Given the description of an element on the screen output the (x, y) to click on. 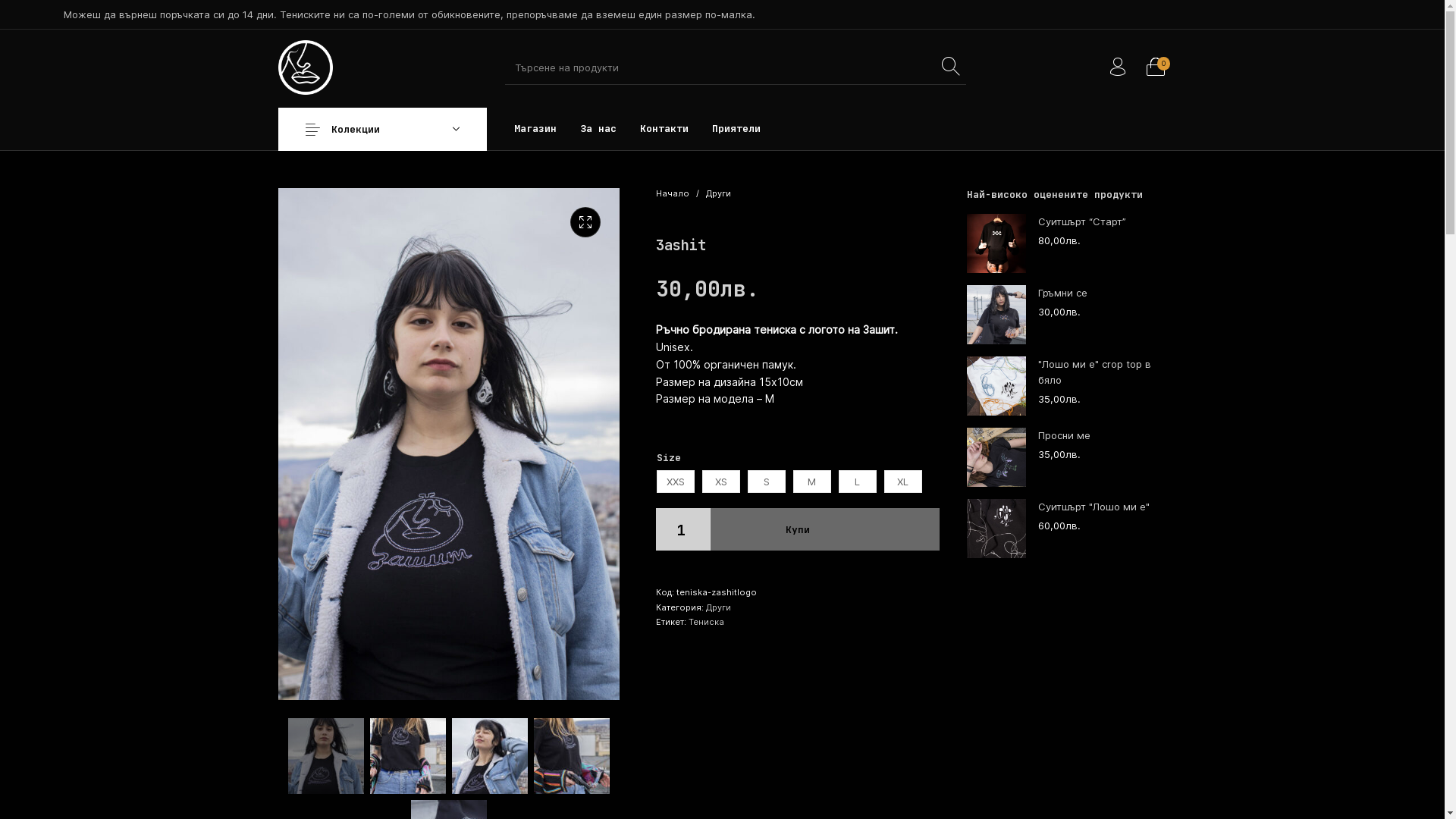
IMG_3326zzzz Element type: hover (789, 301)
0 Element type: text (1154, 67)
IMG_3501zzzz Element type: hover (447, 443)
3ashit Element type: hover (304, 67)
